Given the description of an element on the screen output the (x, y) to click on. 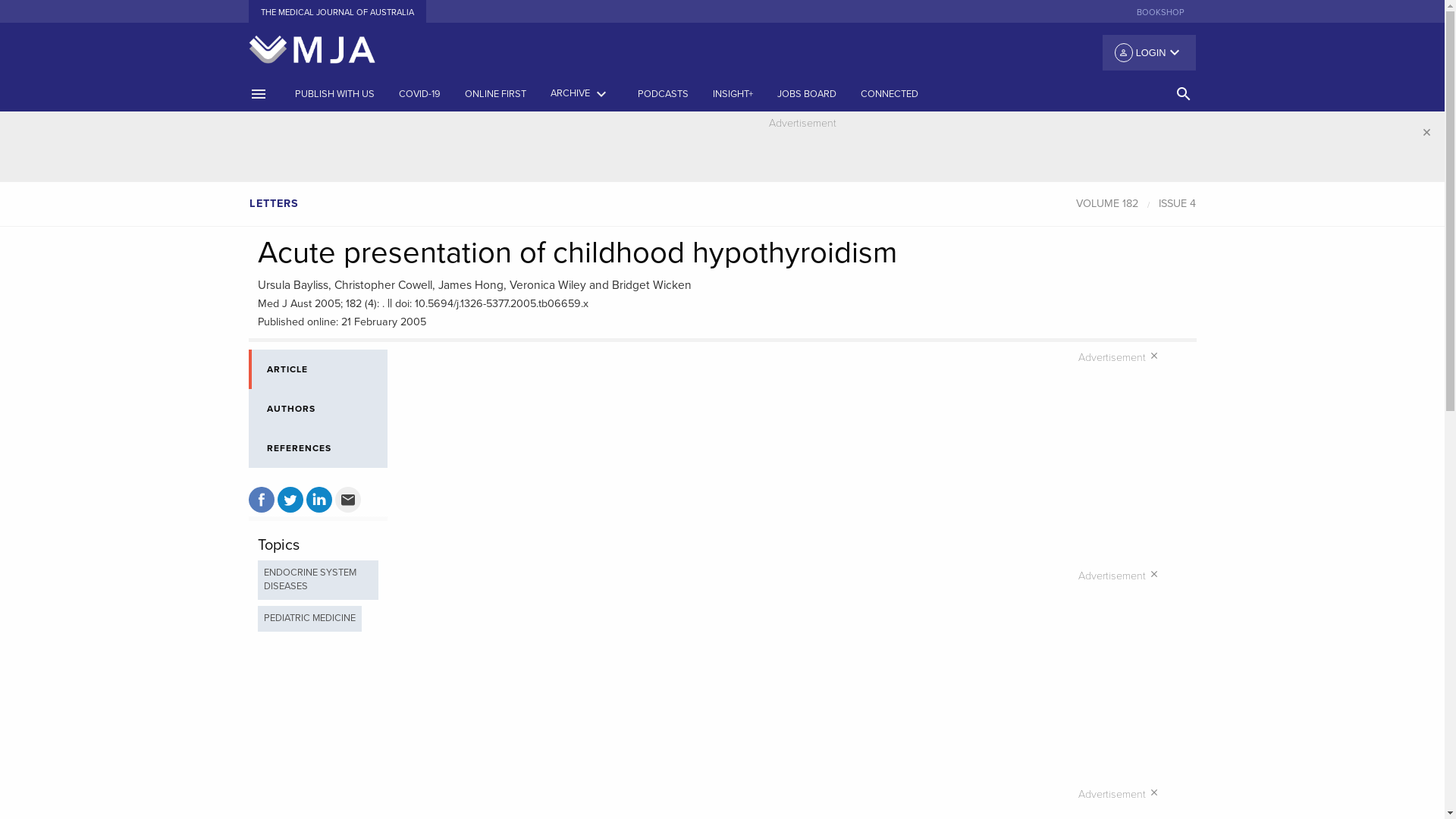
close Element type: text (1426, 129)
BOOKSHOP Element type: text (1159, 12)
ISSUE 4 Element type: text (1176, 203)
JOBS BOARD Element type: text (805, 94)
close Element type: text (1153, 793)
search Element type: text (1184, 93)
PUBLISH WITH US Element type: text (333, 94)
INSIGHT+ Element type: text (732, 94)
ARCHIVE keyboard_arrow_down Element type: text (581, 93)
THE MEDICAL JOURNAL OF AUSTRALIA Element type: text (337, 12)
close Element type: text (1153, 574)
CONNECTED Element type: text (888, 94)
PODCASTS Element type: text (661, 94)
close Element type: text (1153, 356)
COVID-19 Element type: text (419, 94)
PEDIATRIC MEDICINE Element type: text (309, 618)
AUTHORS Element type: text (317, 408)
person_outline LOGIN
keyboard_arrow_down Element type: text (1149, 52)
menu Element type: text (259, 93)
LETTERS Element type: text (273, 203)
REFERENCES Element type: text (317, 447)
ENDOCRINE SYSTEM DISEASES Element type: text (317, 579)
VOLUME 182 Element type: text (1106, 203)
ARTICLE Element type: text (317, 369)
ONLINE FIRST Element type: text (494, 94)
